Given the description of an element on the screen output the (x, y) to click on. 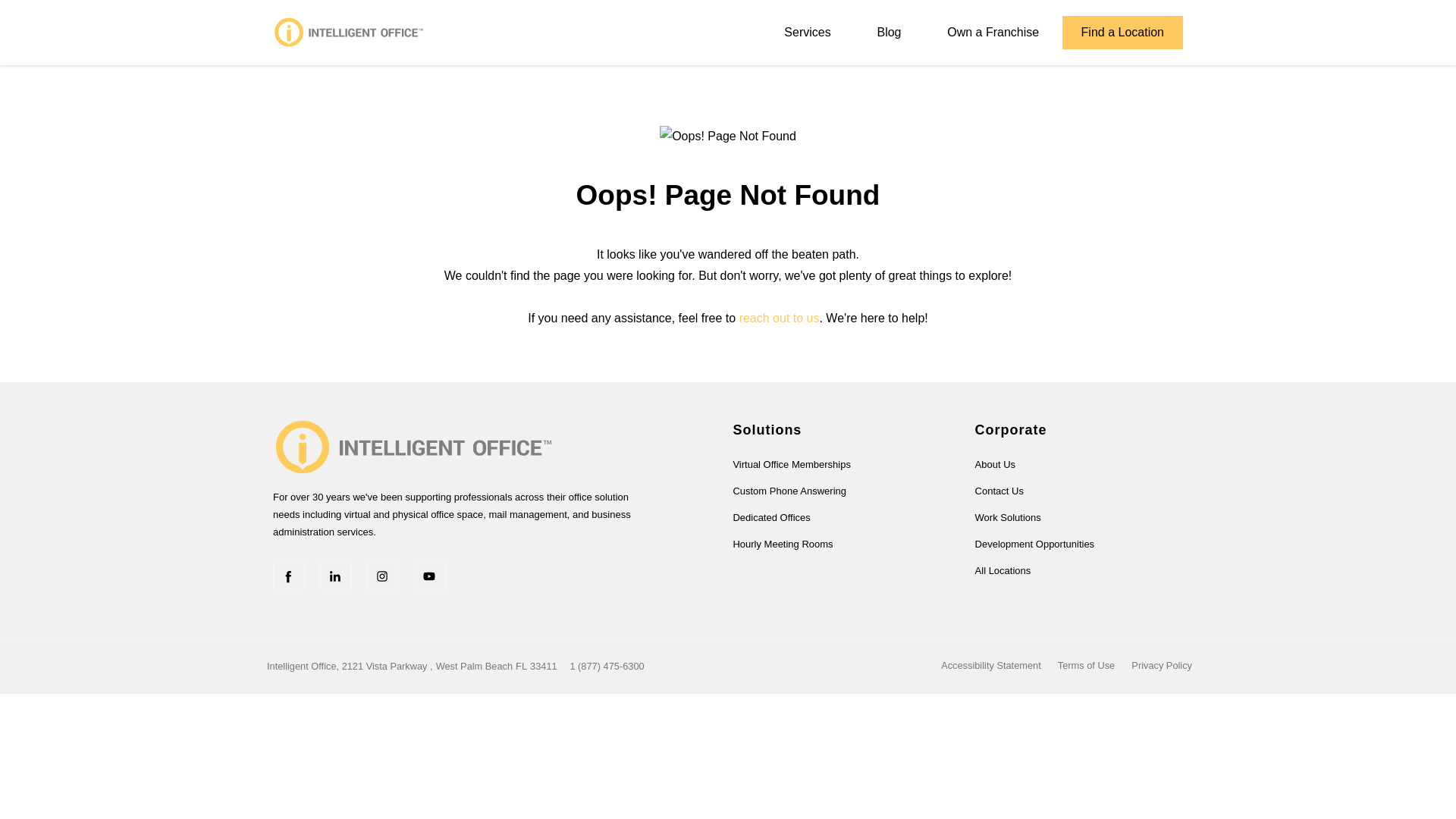
Facebook (288, 575)
Blog (888, 32)
Find a Location (1122, 32)
Linkedin (336, 575)
Instagram (382, 575)
Facebook (288, 575)
Services (807, 32)
Linkedin (336, 575)
Intelligent Office (413, 445)
Intelligent Office (349, 31)
